Given the description of an element on the screen output the (x, y) to click on. 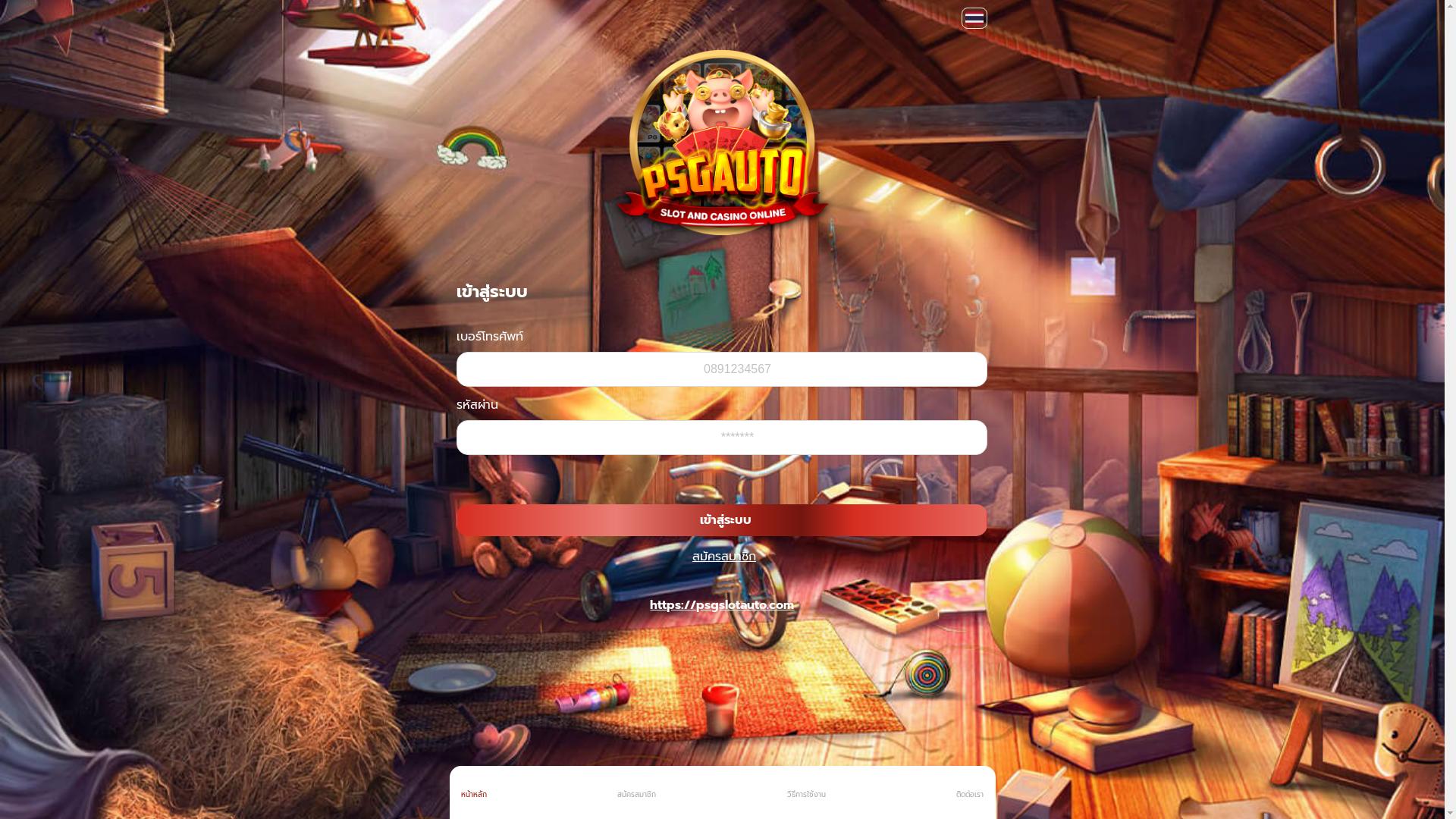
https://psgslotauto.com Element type: text (721, 605)
